Given the description of an element on the screen output the (x, y) to click on. 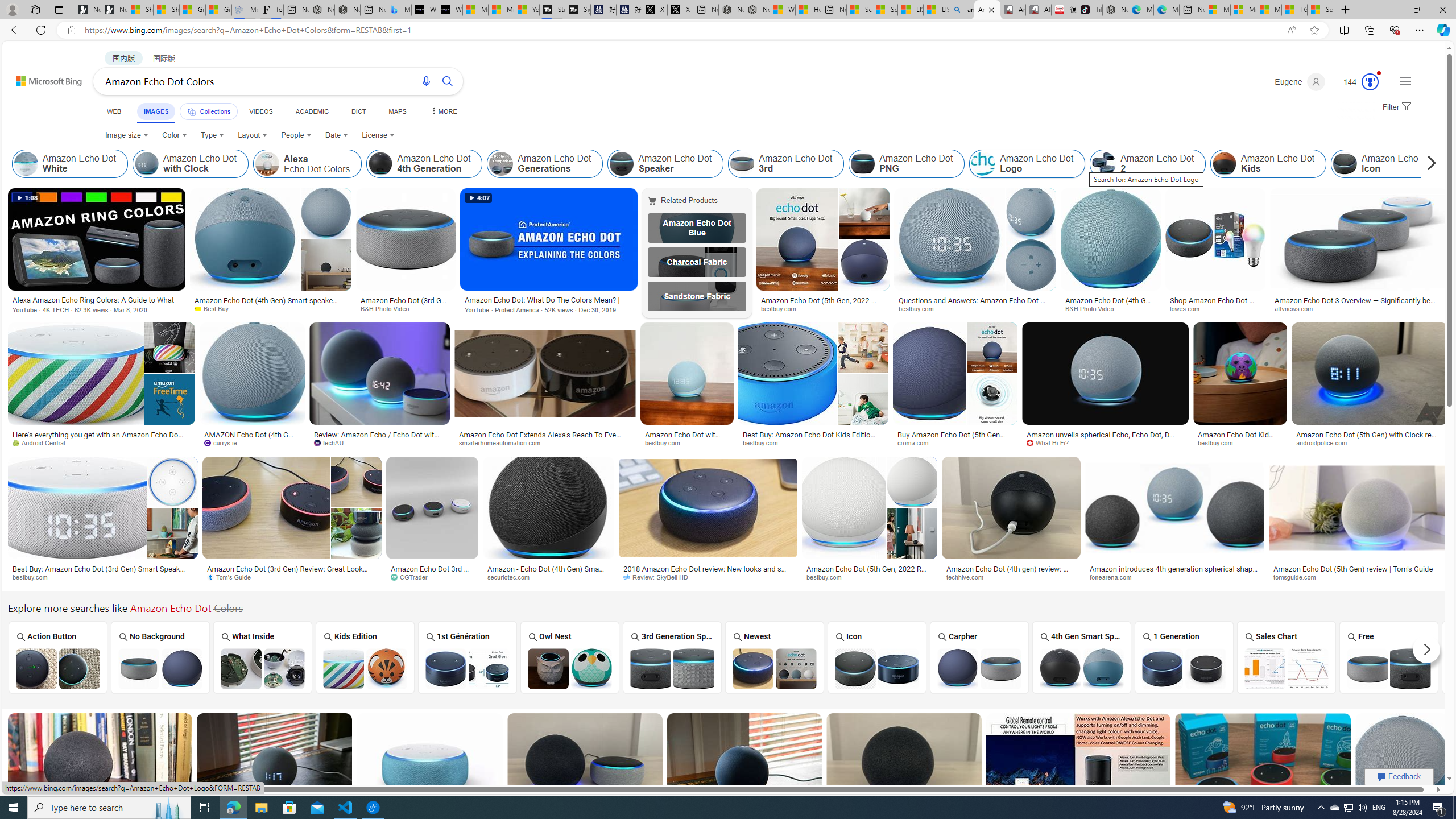
Alexa Amazon Echo Ring Colors: A Guide to What they Mean (96, 300)
Wildlife - MSN (782, 9)
Review: Amazon Echo / Echo Dot with clock (4th gen) - techAU (378, 438)
techhive.com (968, 576)
What Hi-Fi? (1051, 442)
Amazon Echo Dot Logo (983, 163)
Amazon Echo Dot Sales Chart Sales Chart (1286, 656)
